Given the description of an element on the screen output the (x, y) to click on. 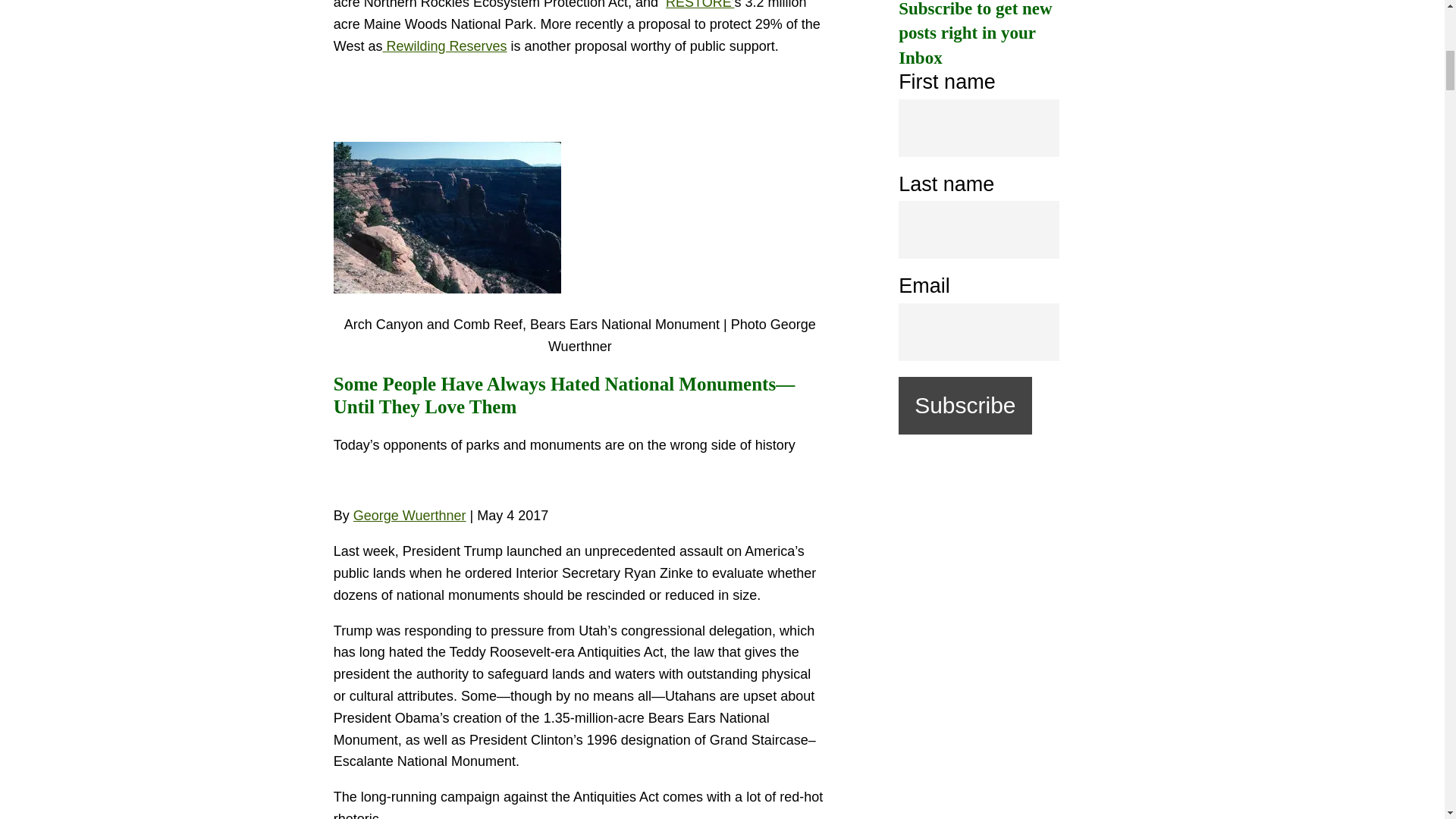
Subscribe (964, 405)
